Given the description of an element on the screen output the (x, y) to click on. 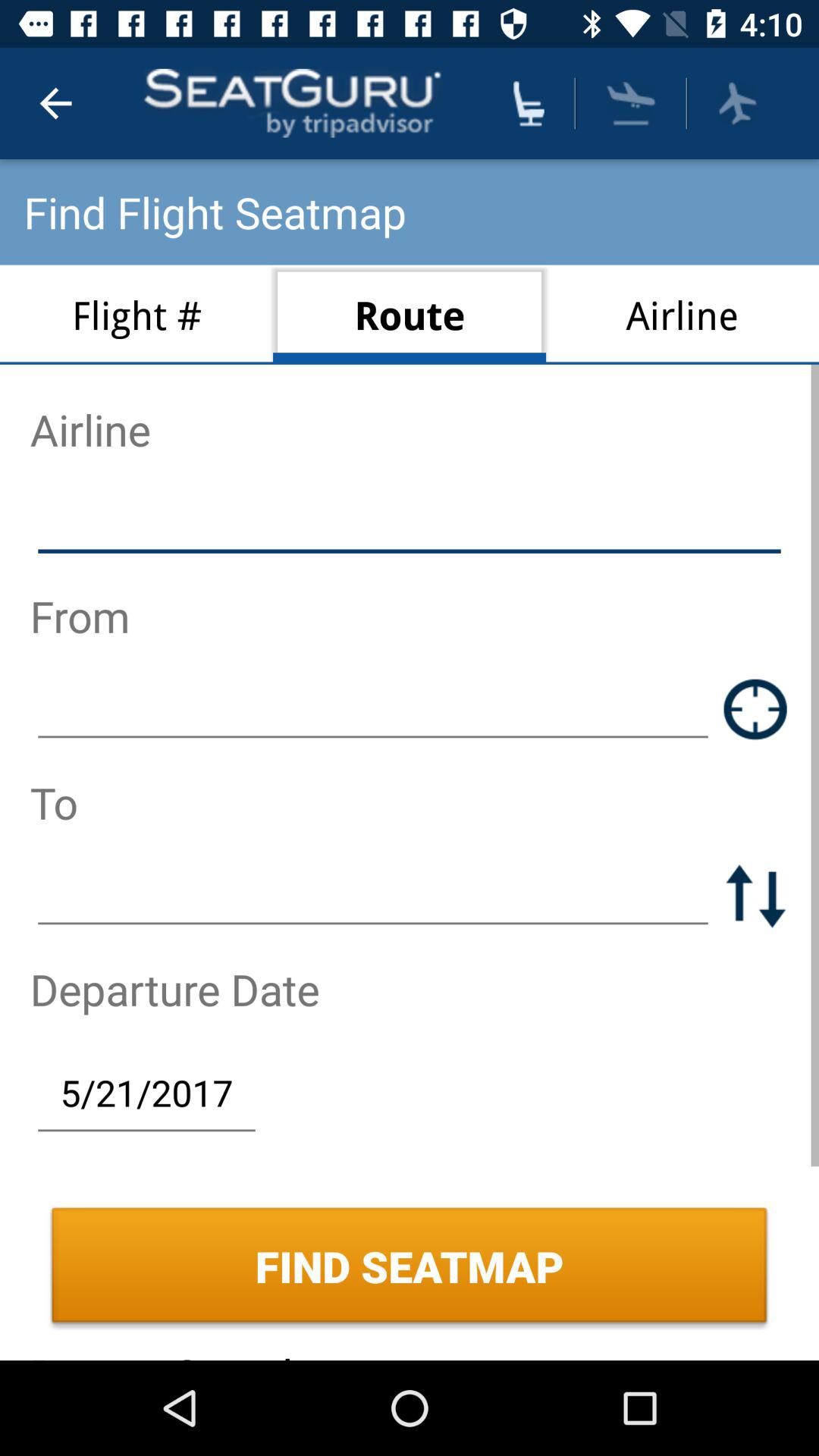
find seat (528, 103)
